Given the description of an element on the screen output the (x, y) to click on. 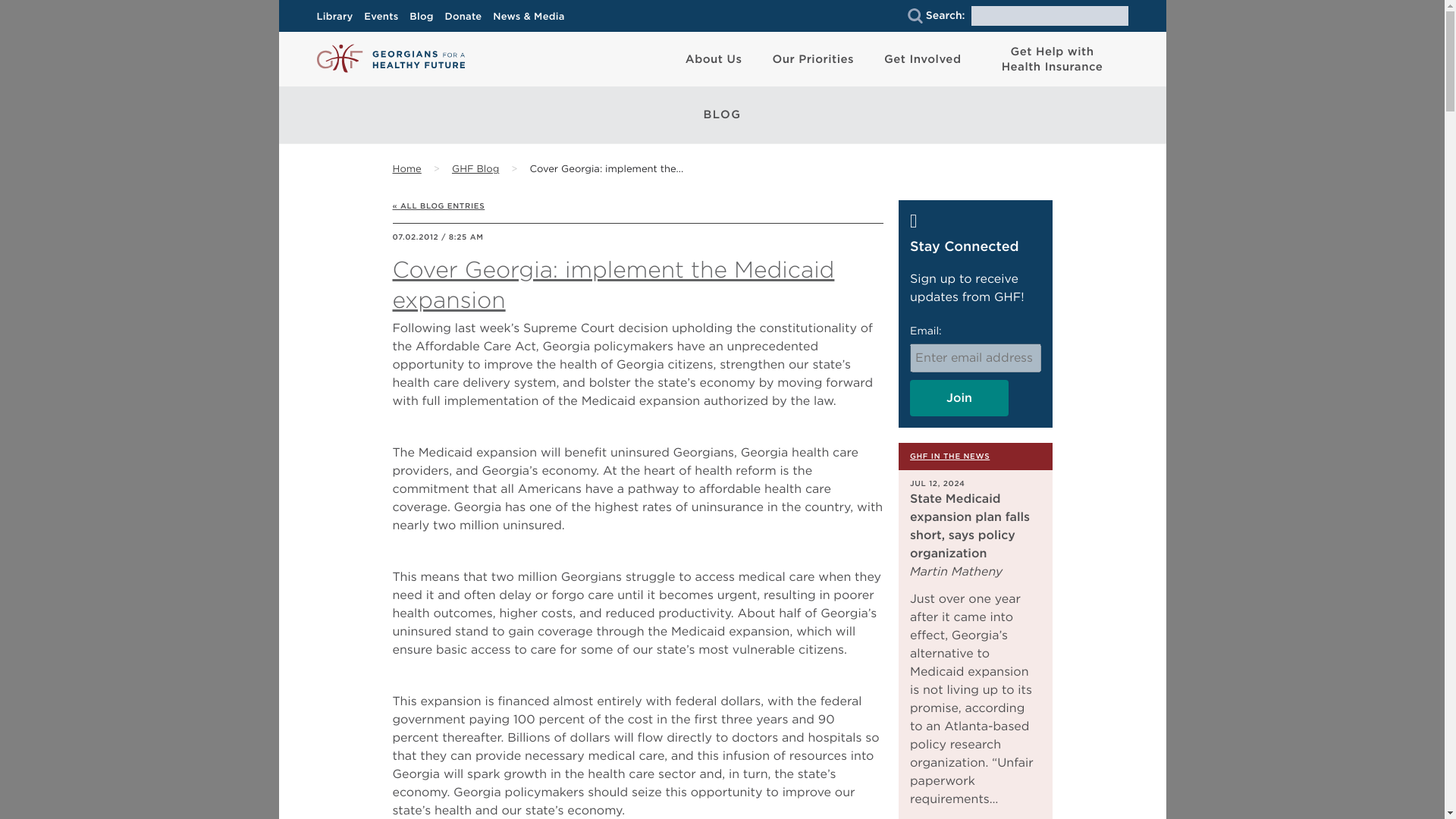
Donate (467, 16)
Cover Georgia: implement the Medicaid expansion (605, 169)
Library (339, 16)
Blog (425, 16)
Category Name (475, 169)
Events (385, 16)
